Given the description of an element on the screen output the (x, y) to click on. 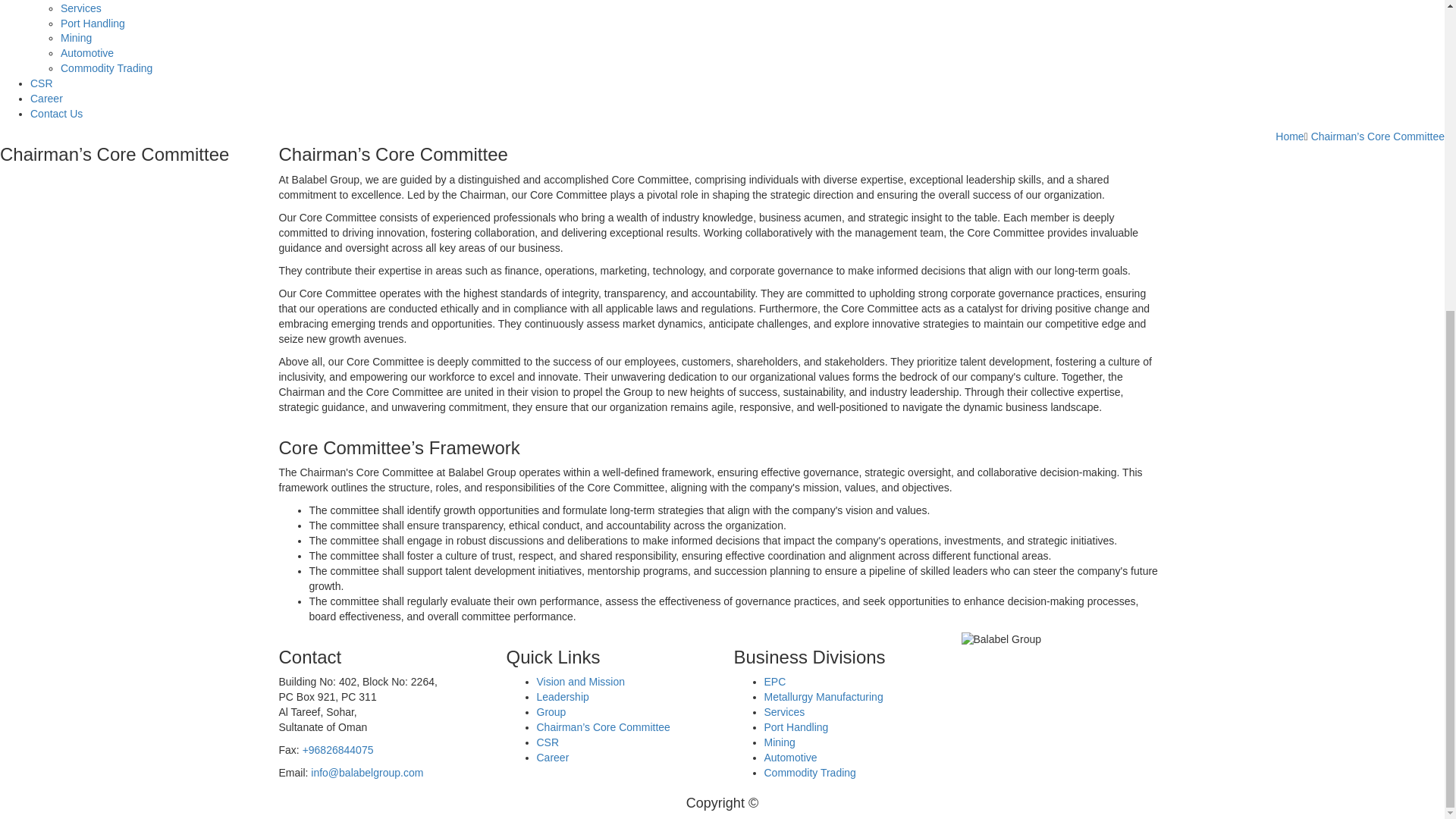
Mining (76, 37)
Vision and Mission (580, 681)
Home (1289, 136)
CSR (41, 82)
Port Handling (93, 22)
Automotive (87, 52)
Services (81, 8)
Contact Us (56, 113)
Commodity Trading (106, 68)
Home (1289, 136)
Career (46, 98)
